Given the description of an element on the screen output the (x, y) to click on. 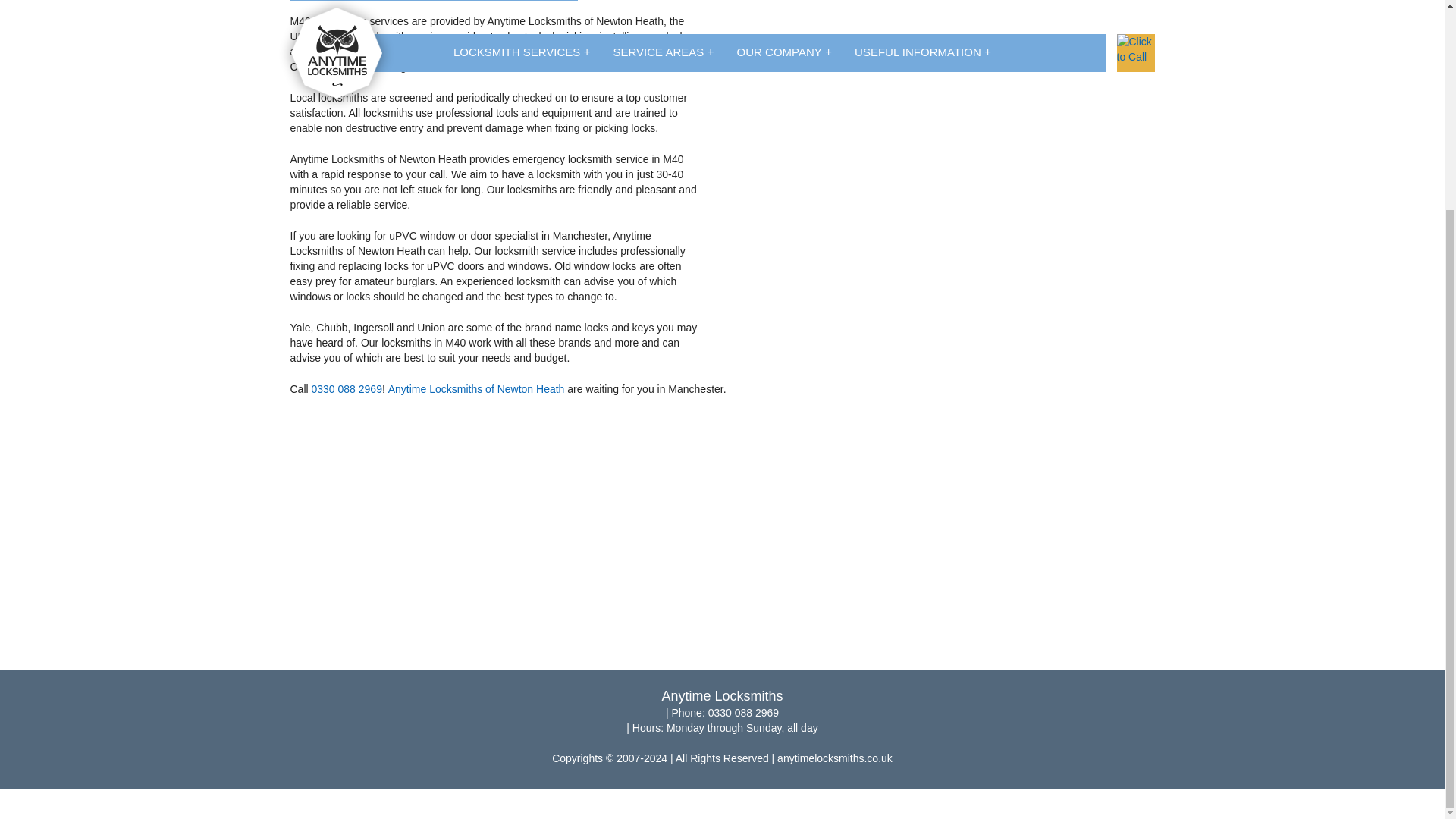
0330 088 2969 (346, 388)
0330 088 2969 (721, 626)
Anytime Locksmiths of Newton Heath (476, 388)
